Given the description of an element on the screen output the (x, y) to click on. 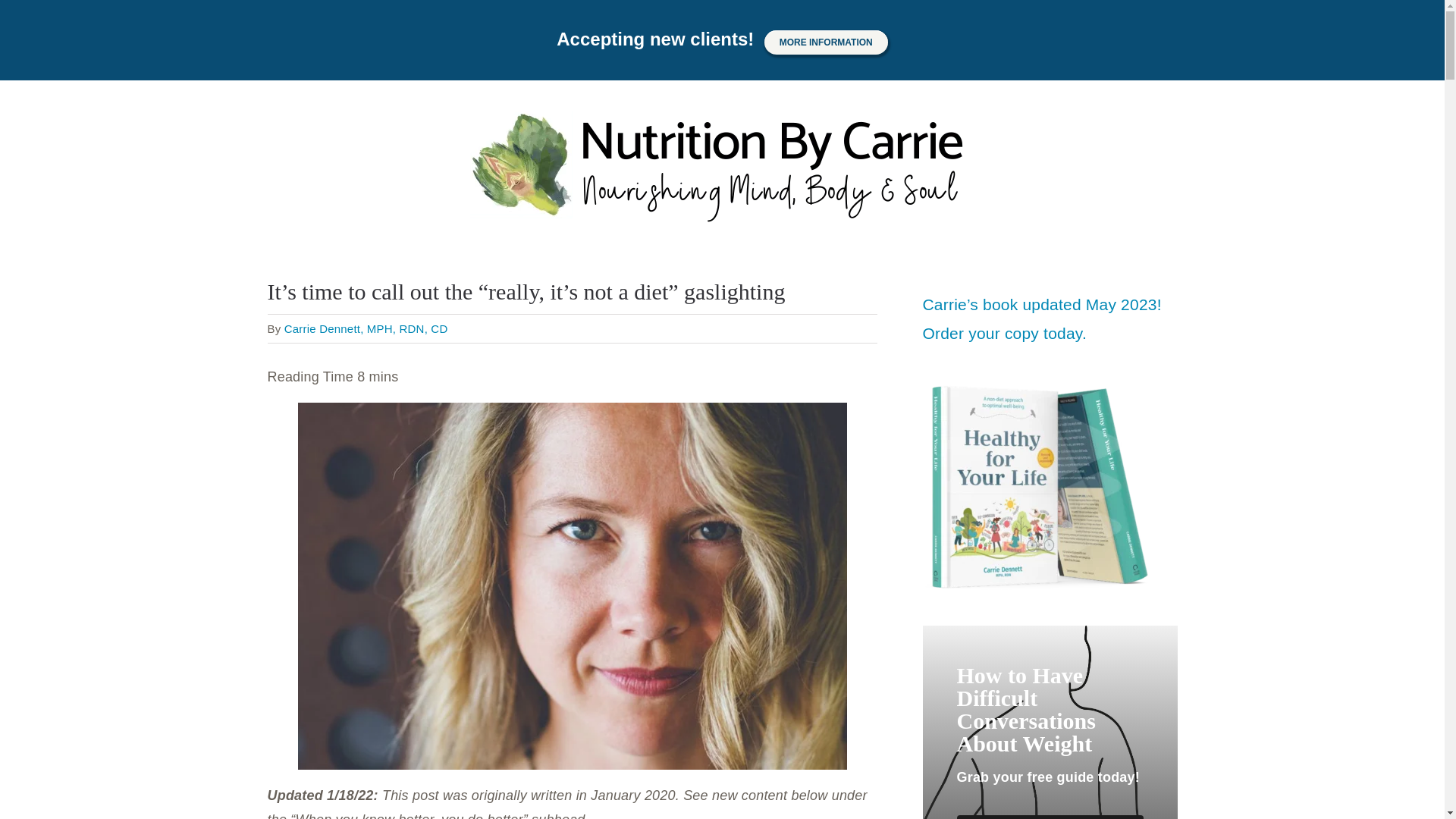
Posts by Carrie Dennett, MPH, RDN, CD (365, 328)
MORE INFORMATION (826, 42)
Carrie Dennett, MPH, RDN, CD (365, 328)
